Given the description of an element on the screen output the (x, y) to click on. 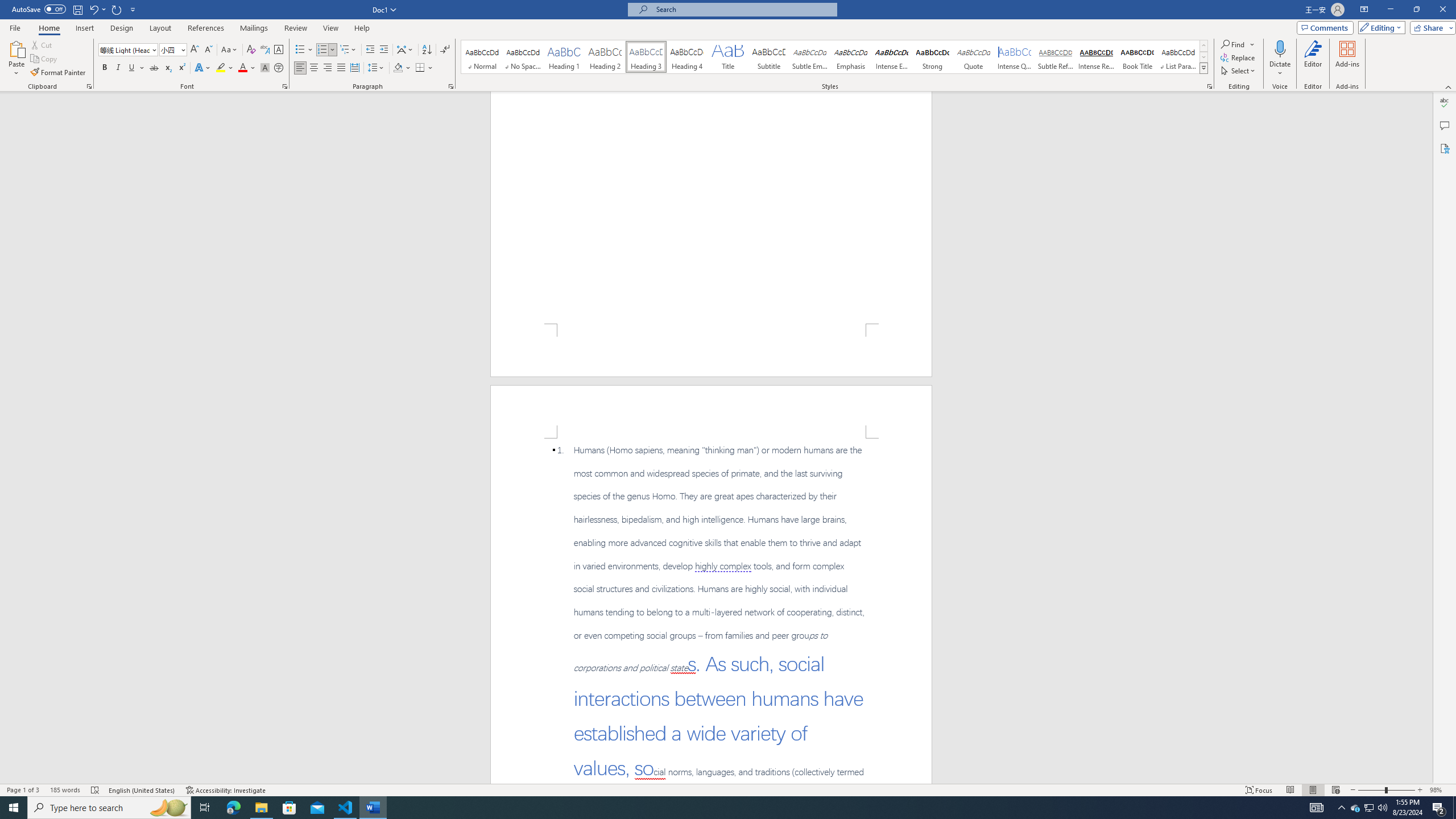
Subtle Reference (1055, 56)
